Given the description of an element on the screen output the (x, y) to click on. 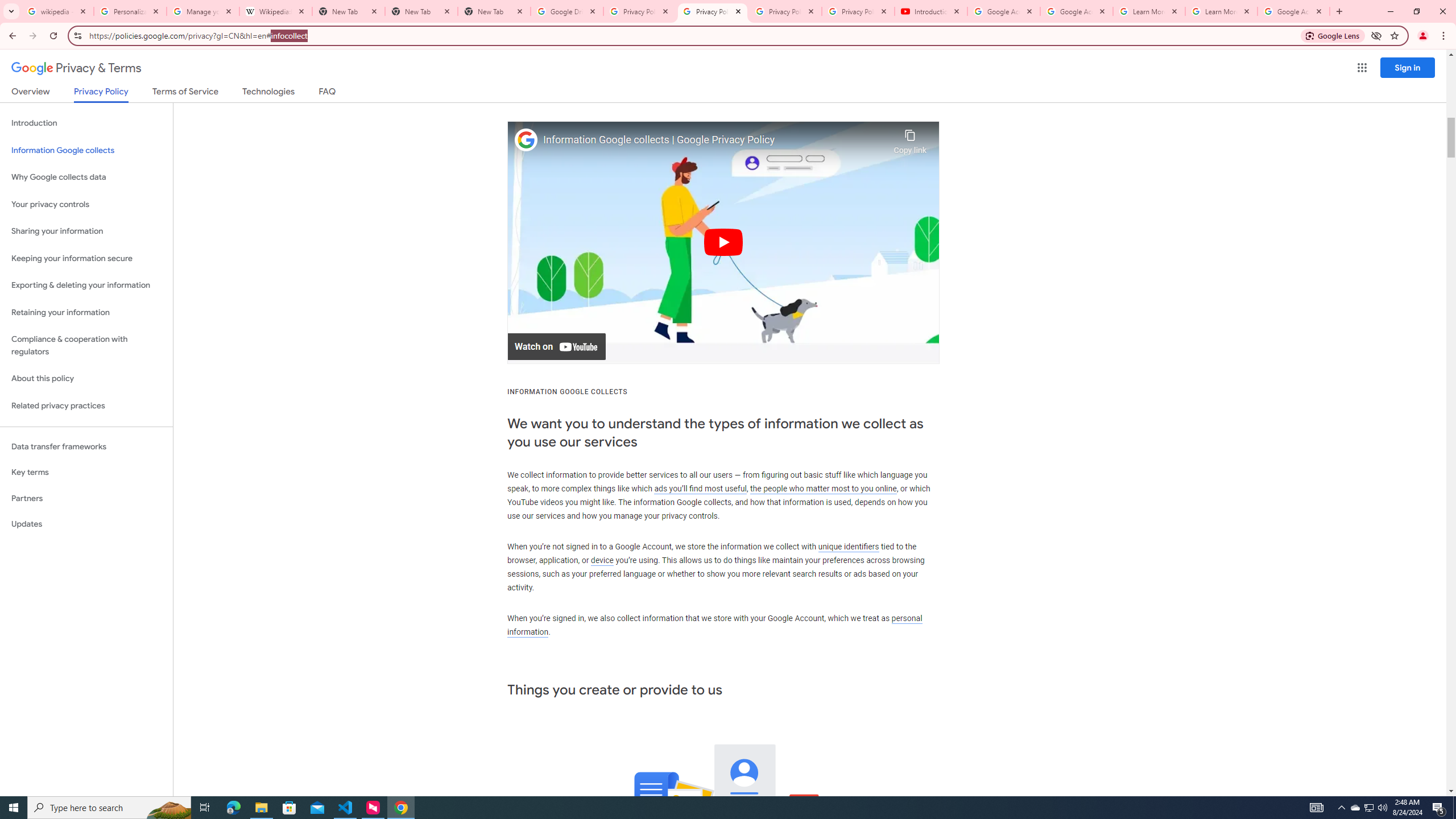
Play (723, 242)
New Tab (421, 11)
